Given the description of an element on the screen output the (x, y) to click on. 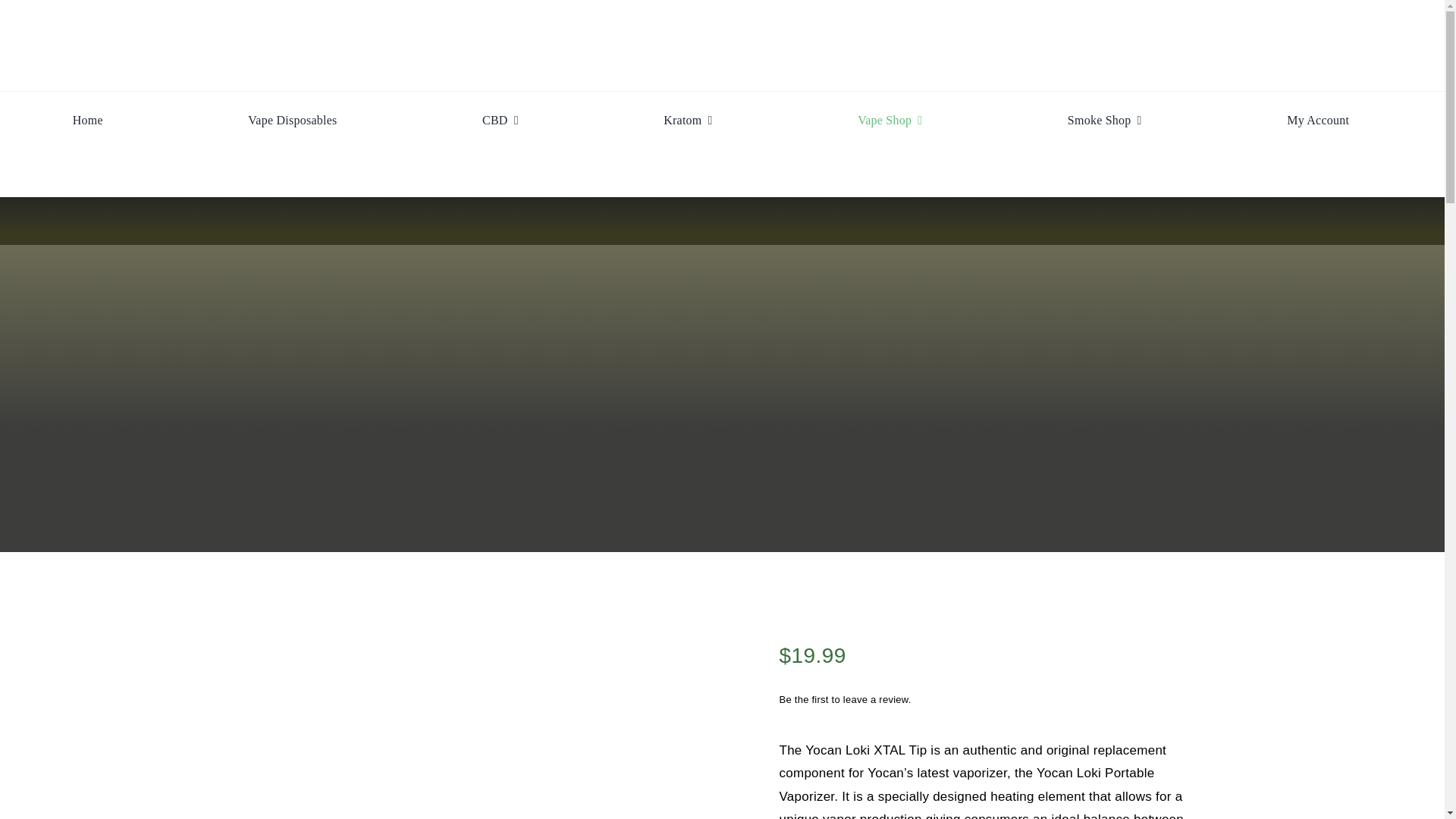
Vape Shop (889, 120)
Kratom (687, 120)
Vape Disposables (291, 120)
Smoke Shop (1104, 120)
